Given the description of an element on the screen output the (x, y) to click on. 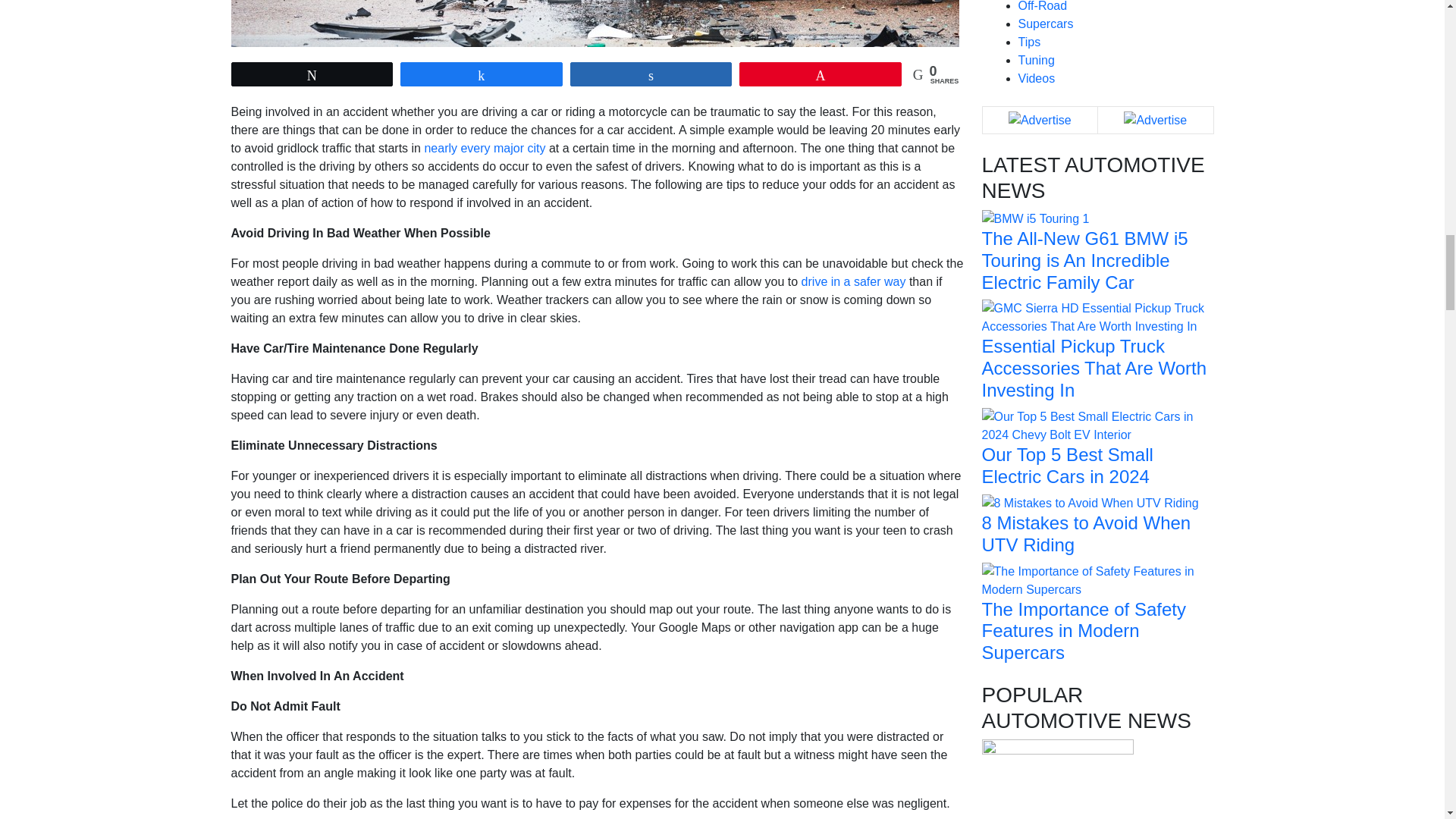
Our Top 5 Best Small Electric Cars in 2024 (1096, 424)
8 Mistakes to Avoid When UTV Riding (1089, 502)
Advertise (1040, 119)
The Importance of Safety Features in Modern Supercars (1096, 579)
Advertise (1155, 119)
Skoda Yeti to be produced in Ukraine (1056, 813)
